Given the description of an element on the screen output the (x, y) to click on. 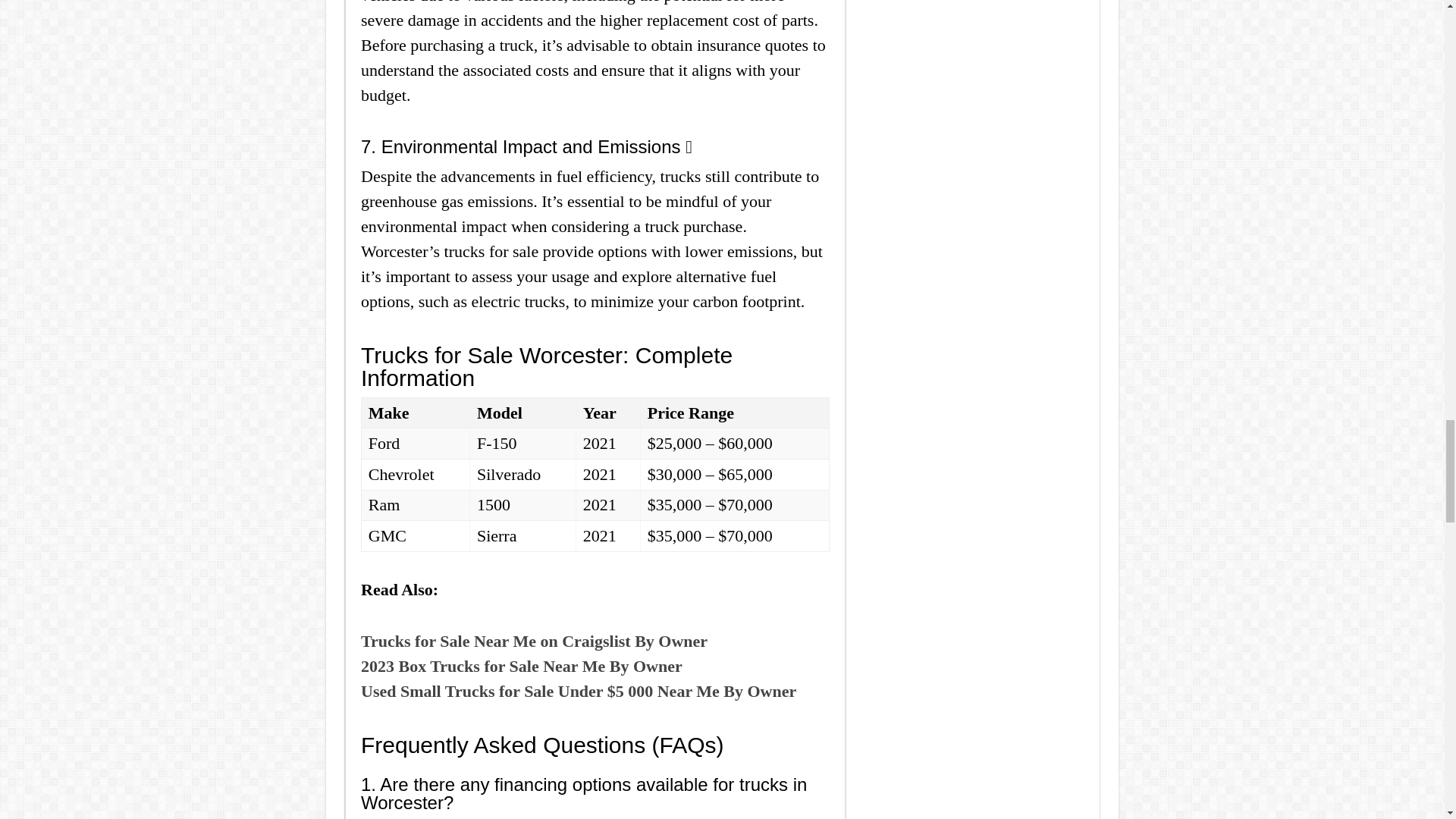
Trucks for Sale Near Me on Craigslist By Owner (534, 640)
2023 Box Trucks for Sale Near Me By Owner (521, 665)
